Given the description of an element on the screen output the (x, y) to click on. 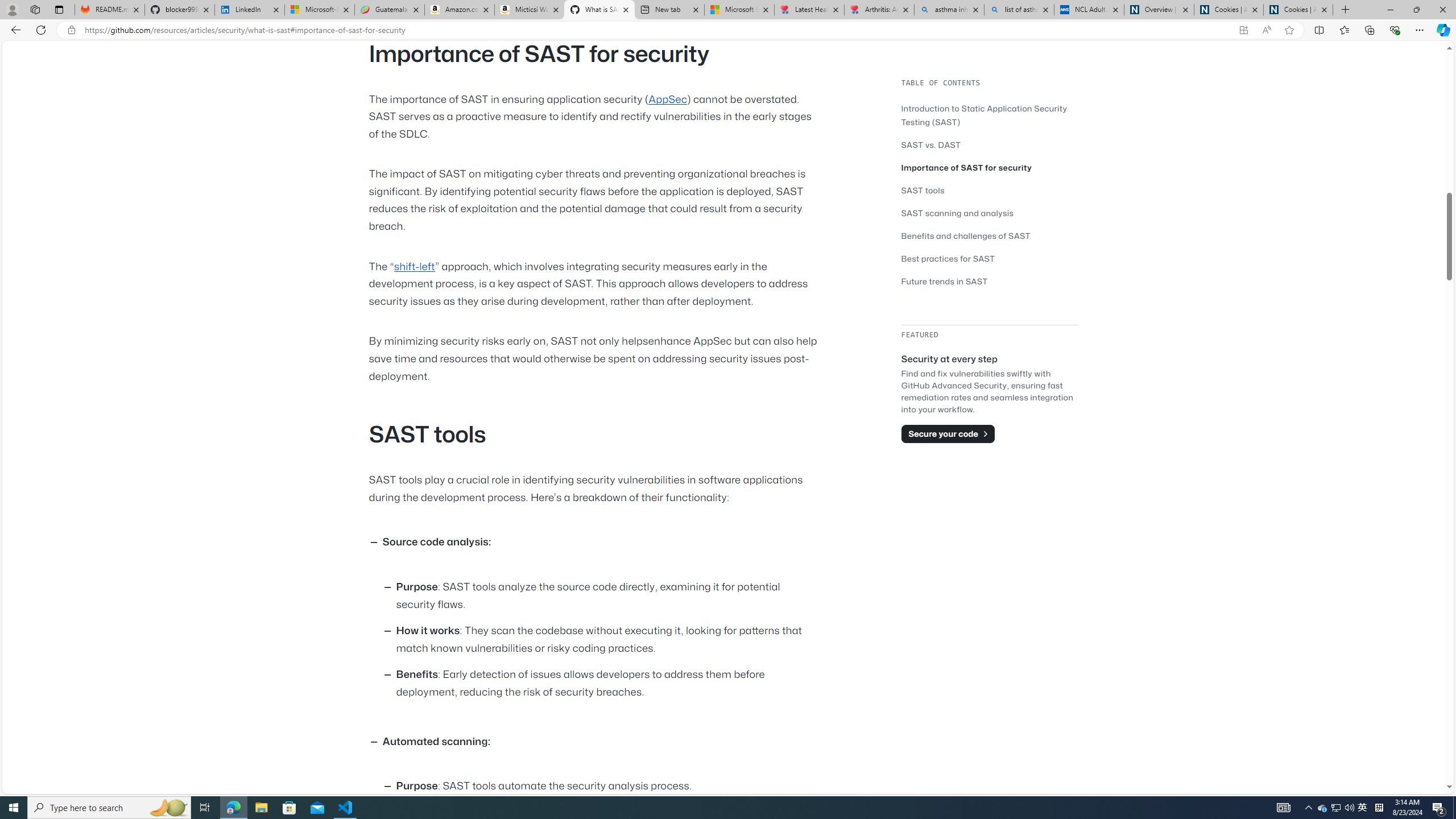
Best practices for SAST (989, 258)
Secure your code (947, 433)
Best practices for SAST (948, 258)
SAST tools (989, 190)
Future trends in SAST (989, 281)
Benefits and challenges of SAST (989, 235)
